Given the description of an element on the screen output the (x, y) to click on. 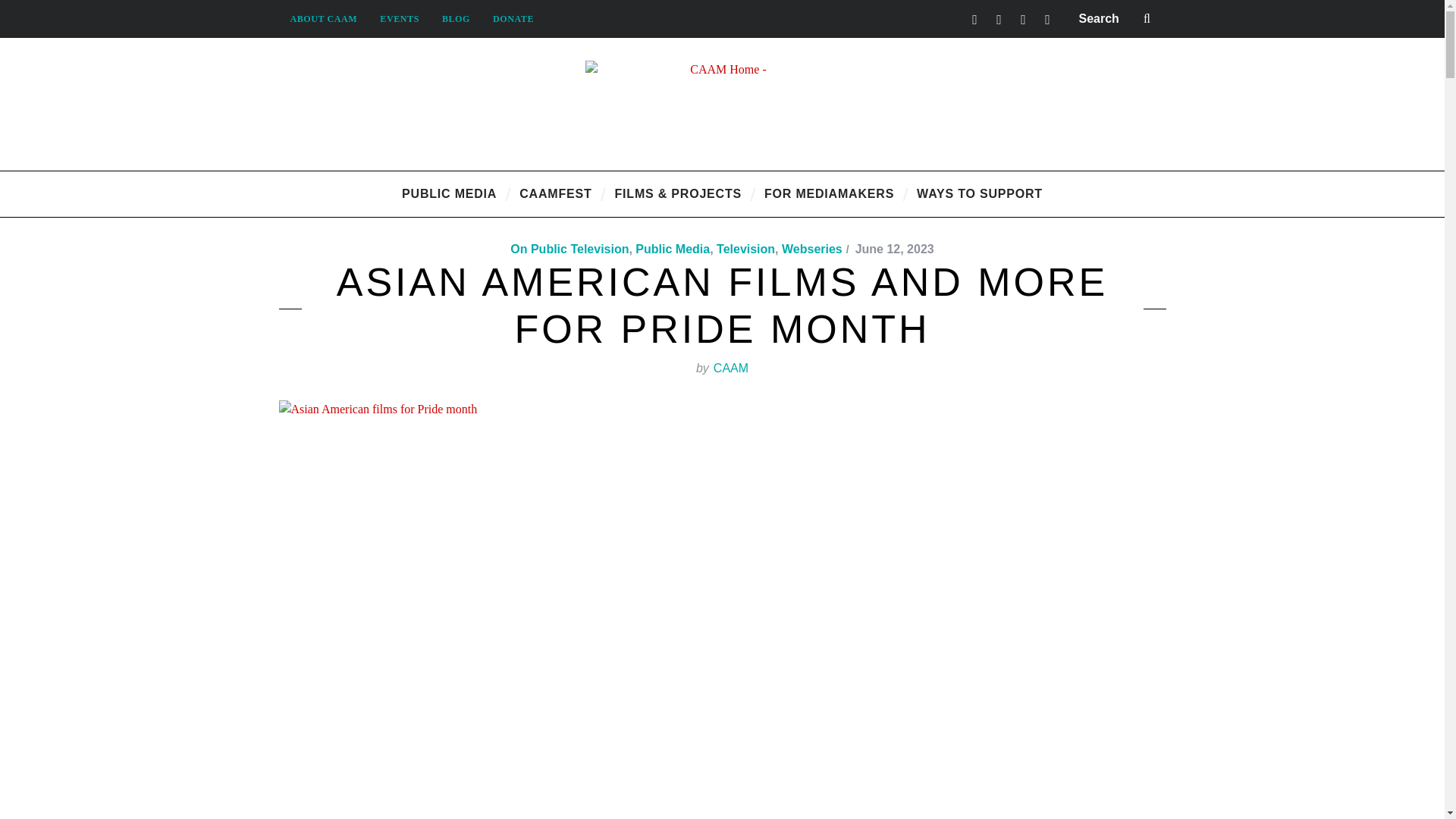
BLOG (455, 18)
ABOUT CAAM (324, 18)
EVENTS (399, 18)
DONATE (512, 18)
Search (1116, 18)
